Given the description of an element on the screen output the (x, y) to click on. 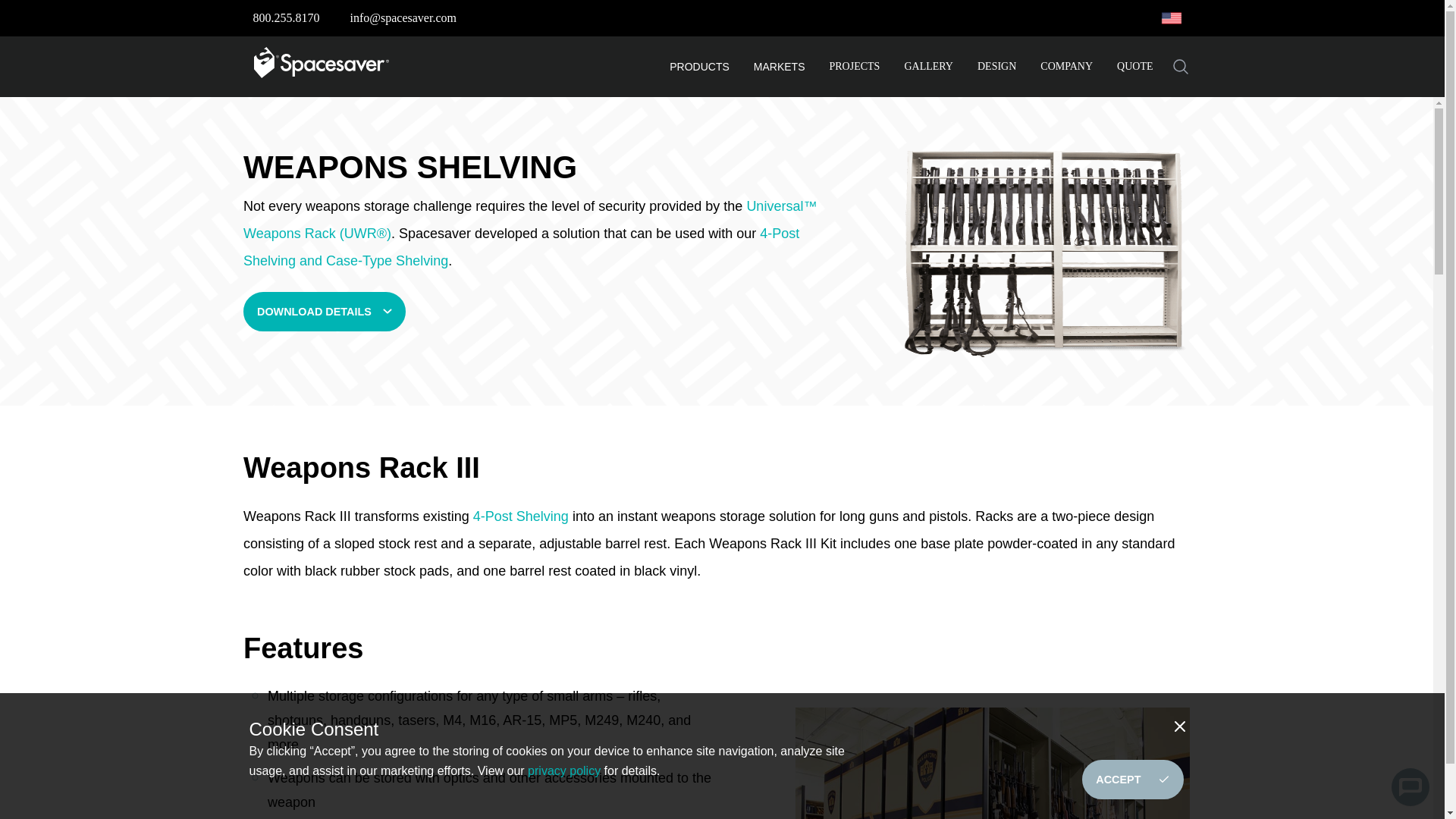
Search (1179, 66)
4-Post Shelving (521, 516)
MARKETS (779, 66)
PRODUCTS (699, 66)
800.255.8170 (286, 17)
GALLERY (928, 66)
4-Post Shelving and Case-Type Shelving (521, 247)
PROJECTS (854, 66)
QUOTE (1134, 66)
DOWNLOAD DETAILS (324, 311)
